Given the description of an element on the screen output the (x, y) to click on. 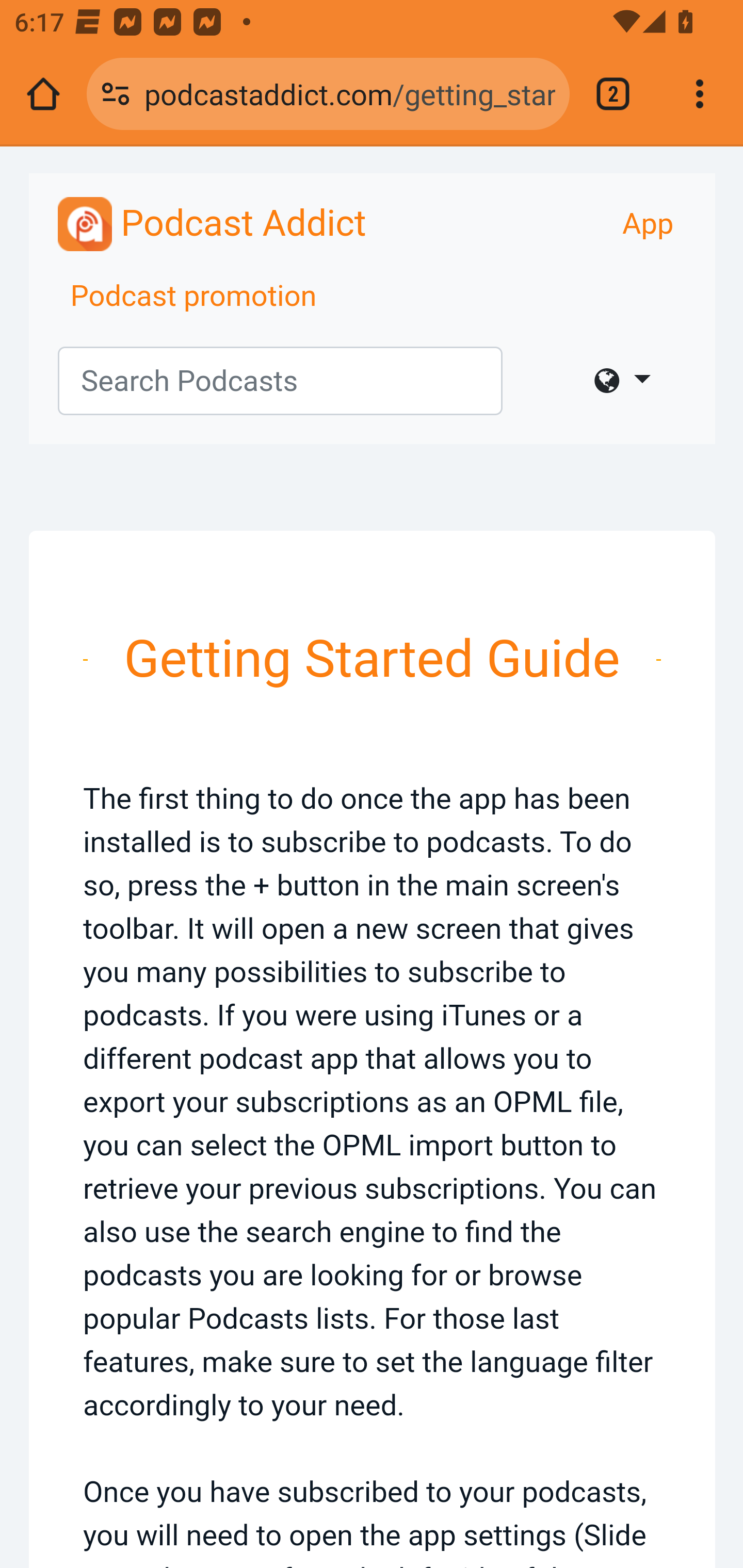
Open the home page (43, 93)
Connection is secure (115, 93)
Switch or close tabs (612, 93)
Customize and control Google Chrome (699, 93)
podcastaddict.com/getting_started (349, 92)
App (648, 224)
Podcast promotion (193, 296)
 (622, 380)
